Given the description of an element on the screen output the (x, y) to click on. 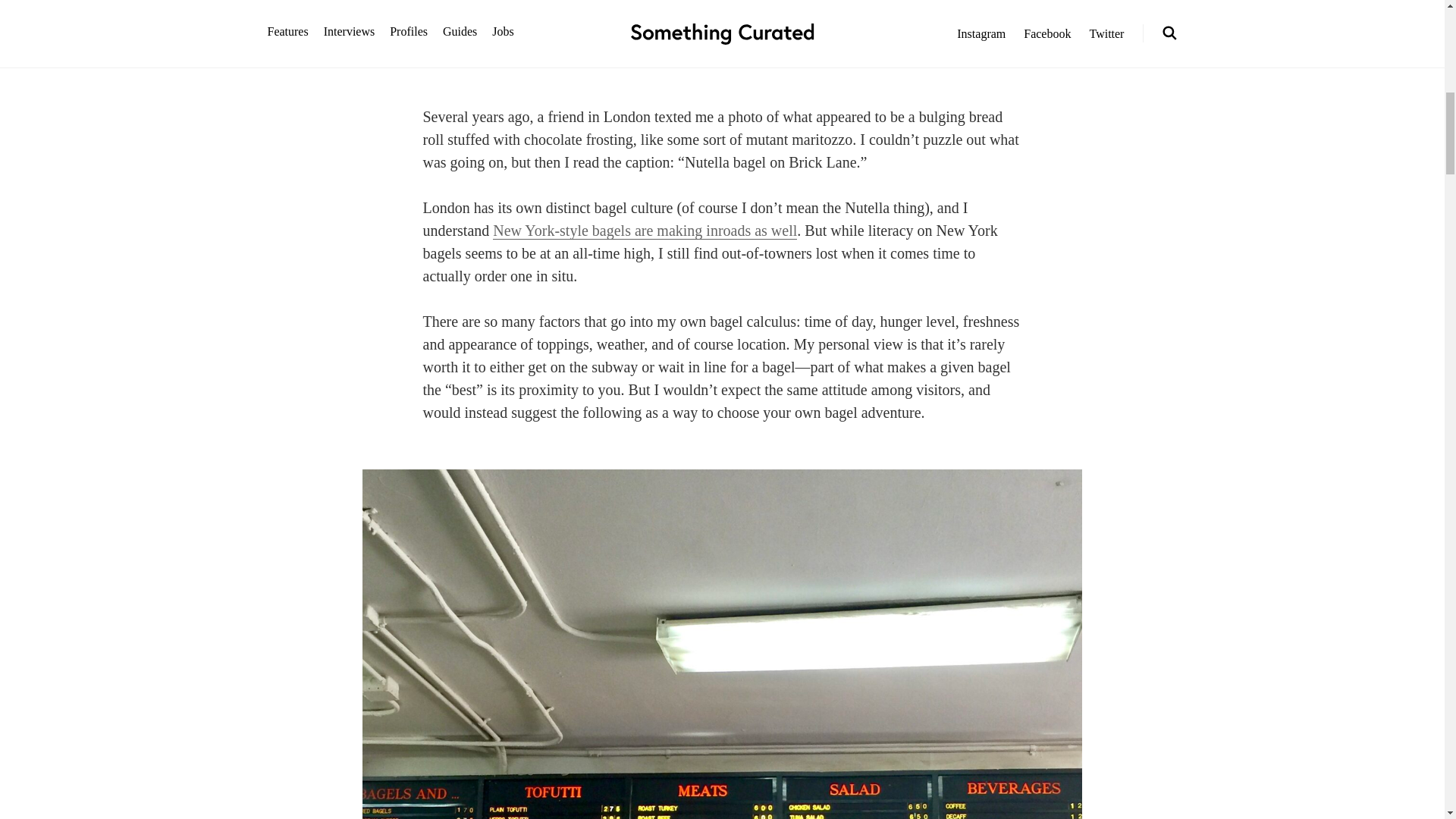
Guides (662, 54)
Share (785, 54)
New York-style bagels are making inroads as well (644, 230)
26 Mar 2024 (724, 54)
